Given the description of an element on the screen output the (x, y) to click on. 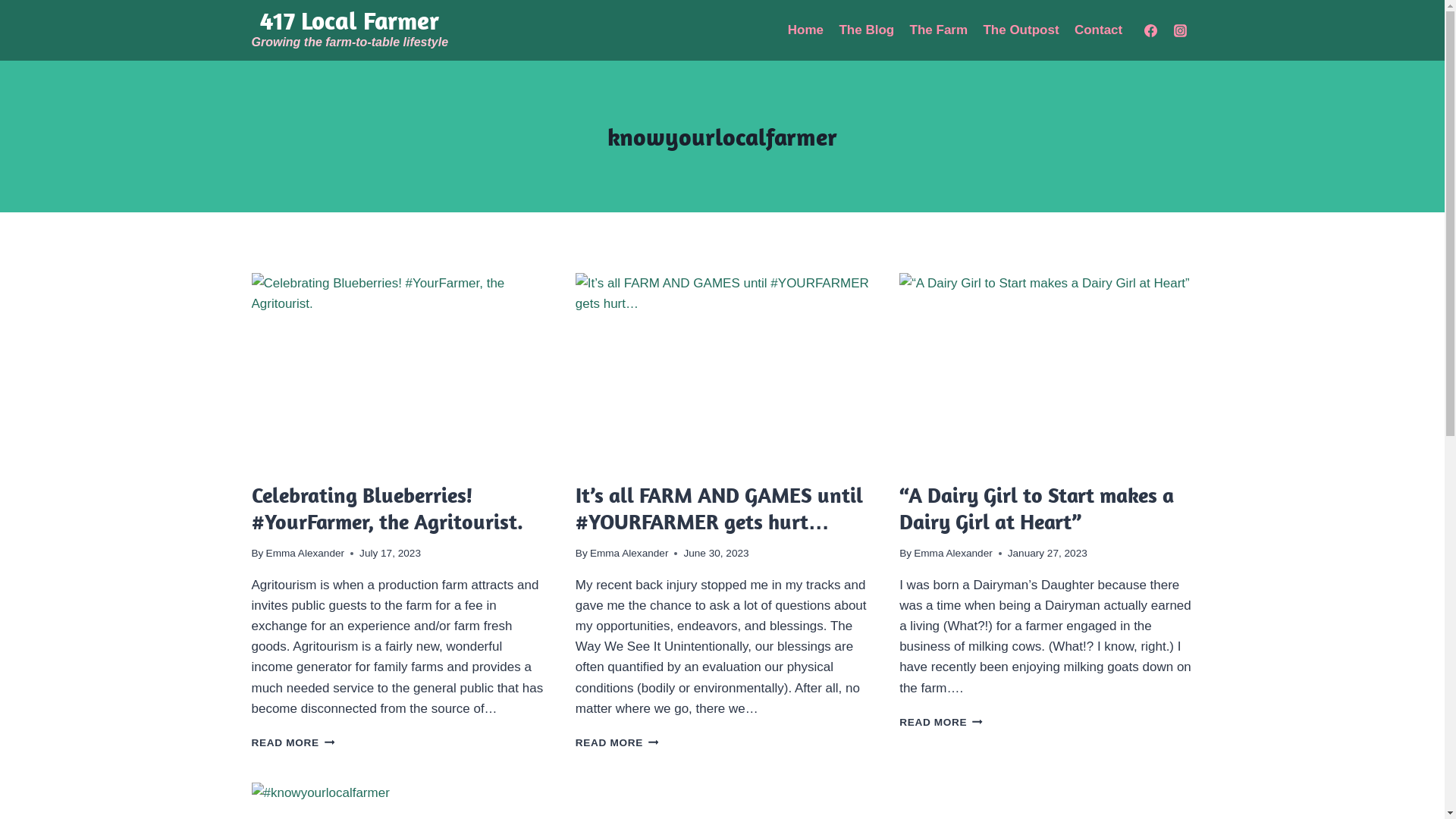
Home Element type: text (805, 30)
Emma Alexander Element type: text (305, 552)
The Farm Element type: text (938, 30)
Contact Element type: text (1098, 30)
Emma Alexander Element type: text (952, 552)
Emma Alexander Element type: text (628, 552)
417 Local Farmer
Growing the farm-to-table lifestyle Element type: text (349, 29)
The Blog Element type: text (866, 30)
Celebrating Blueberries! #YourFarmer, the Agritourist. Element type: text (387, 507)
The Outpost Element type: text (1020, 30)
